Given the description of an element on the screen output the (x, y) to click on. 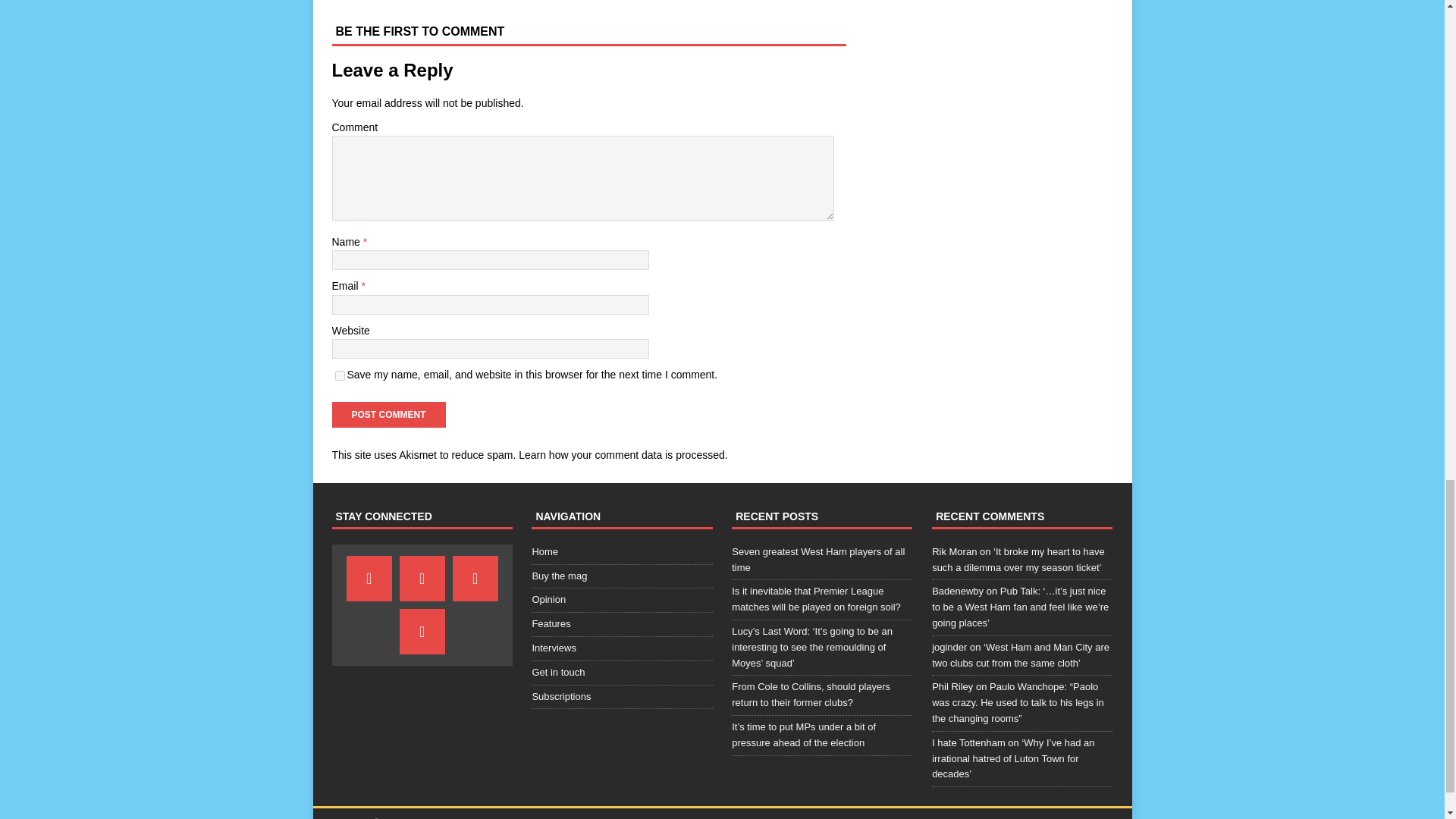
Post Comment (388, 414)
yes (339, 375)
